Given the description of an element on the screen output the (x, y) to click on. 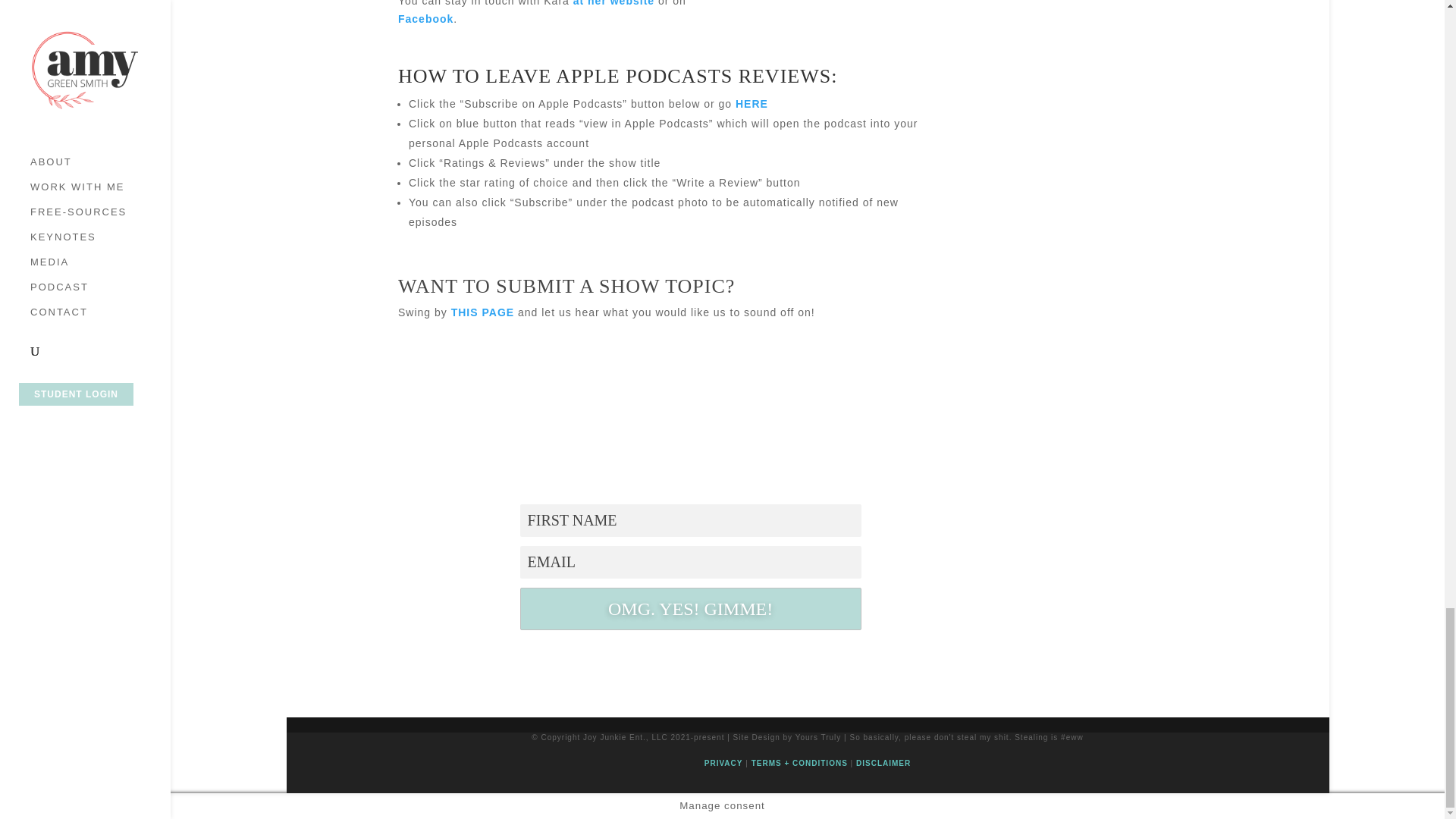
HERE (751, 103)
at her website (613, 3)
Facebook (424, 19)
OMG. YES! GIMME! (690, 608)
THIS PAGE (482, 312)
OMG. YES! GIMME! (690, 608)
